Given the description of an element on the screen output the (x, y) to click on. 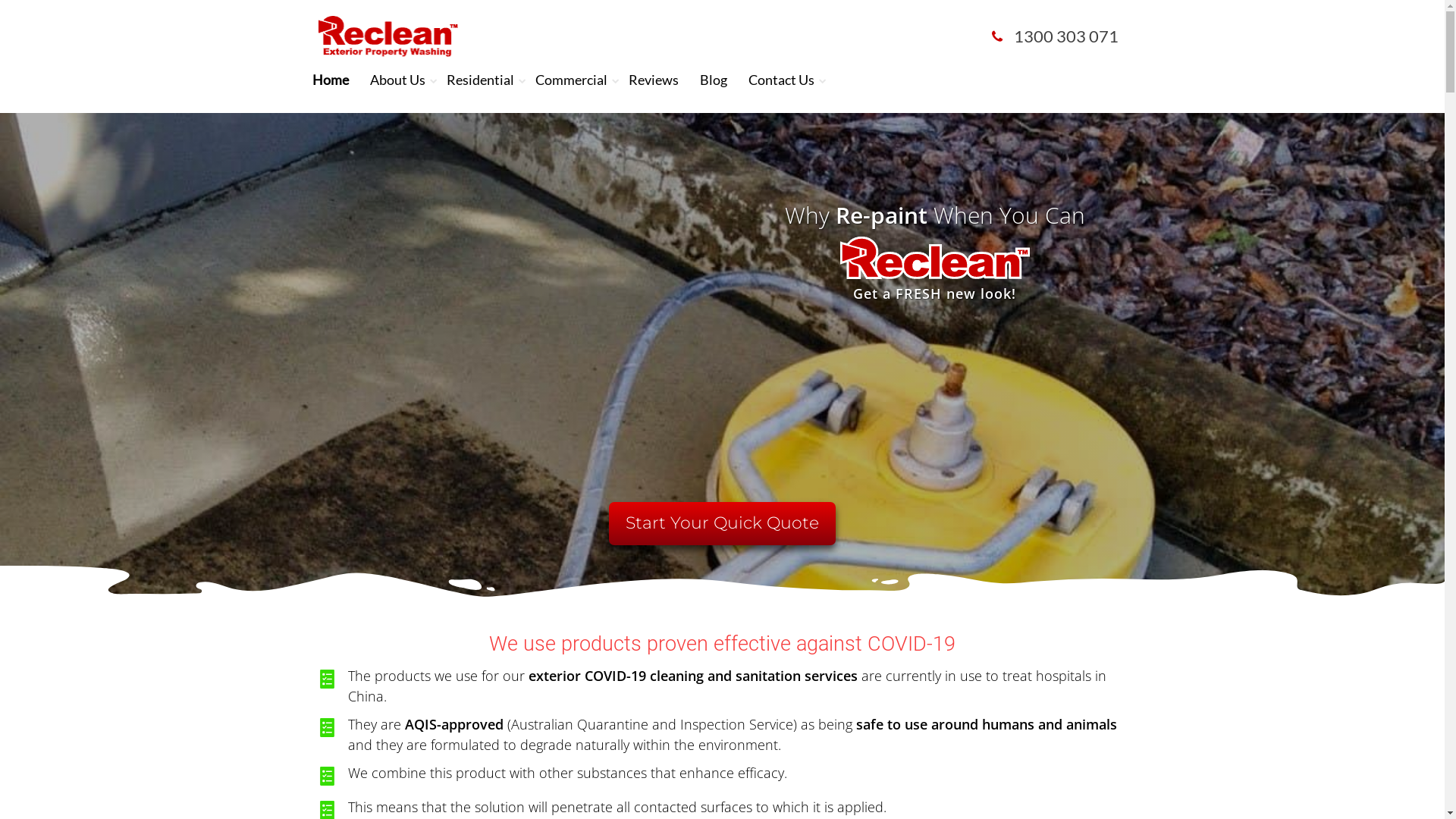
Reviews Element type: text (653, 79)
Contact Us Element type: text (781, 79)
Start Your Quick Quote Element type: text (721, 523)
1300 303 071 Element type: text (1055, 36)
Blog Element type: text (713, 79)
Home Element type: text (330, 79)
About Us Element type: text (397, 79)
Residential Element type: text (480, 79)
Commercial Element type: text (571, 79)
